Given the description of an element on the screen output the (x, y) to click on. 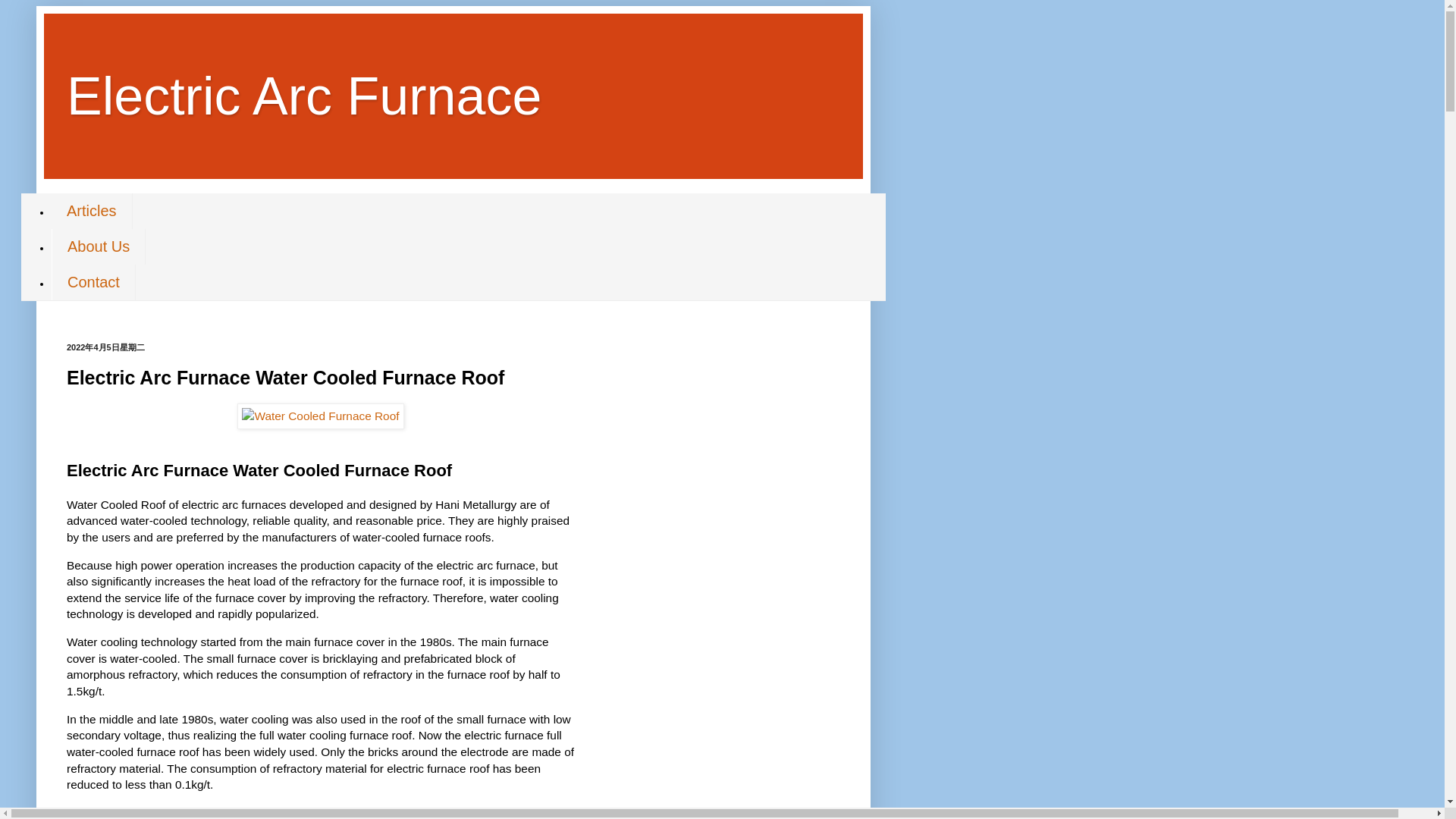
Contact (92, 282)
Electric Arc Furnace (303, 96)
About Us (97, 246)
Articles (91, 211)
Water Cooled Furnace Roof (320, 416)
